Given the description of an element on the screen output the (x, y) to click on. 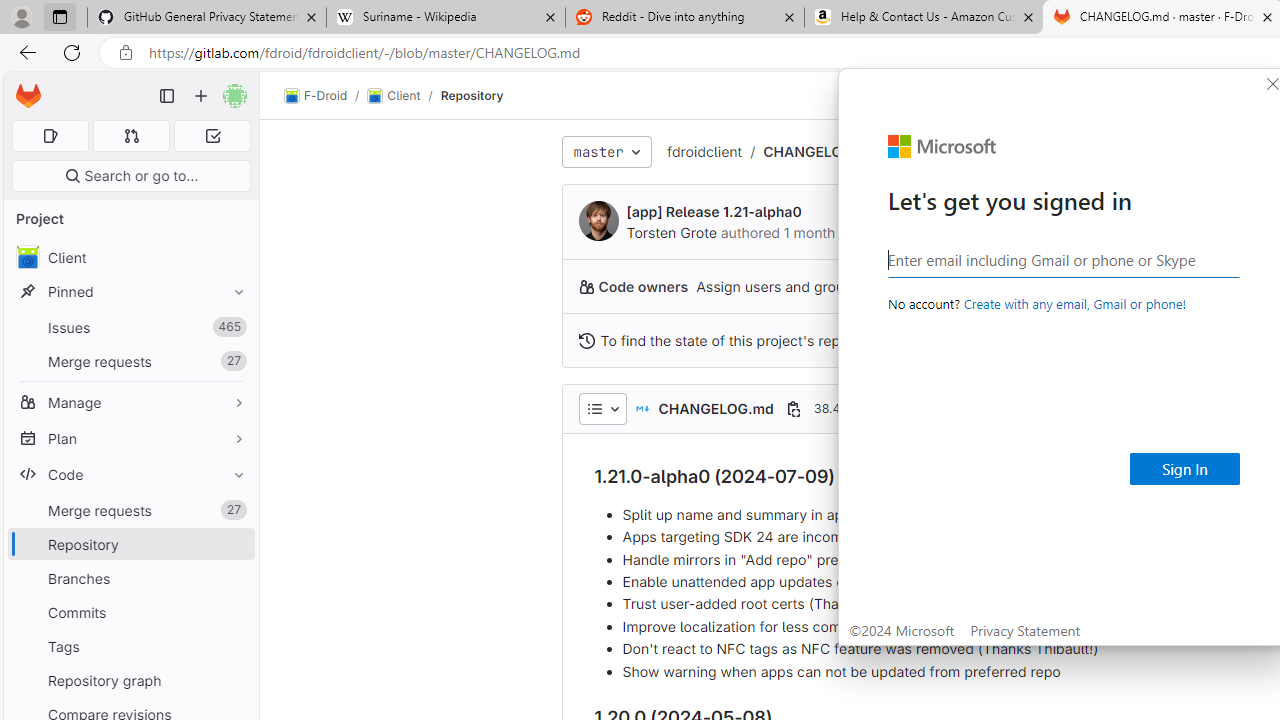
avatar Client (130, 257)
Plan (130, 438)
Issues465 (130, 327)
Branches (130, 578)
Repository graph (130, 679)
Pinned (130, 291)
Torsten Grote (670, 232)
Create new... (201, 96)
Torsten Grote's avatar (598, 220)
Homepage (27, 96)
Assigned issues 0 (50, 136)
Merge requests 0 (131, 136)
